Given the description of an element on the screen output the (x, y) to click on. 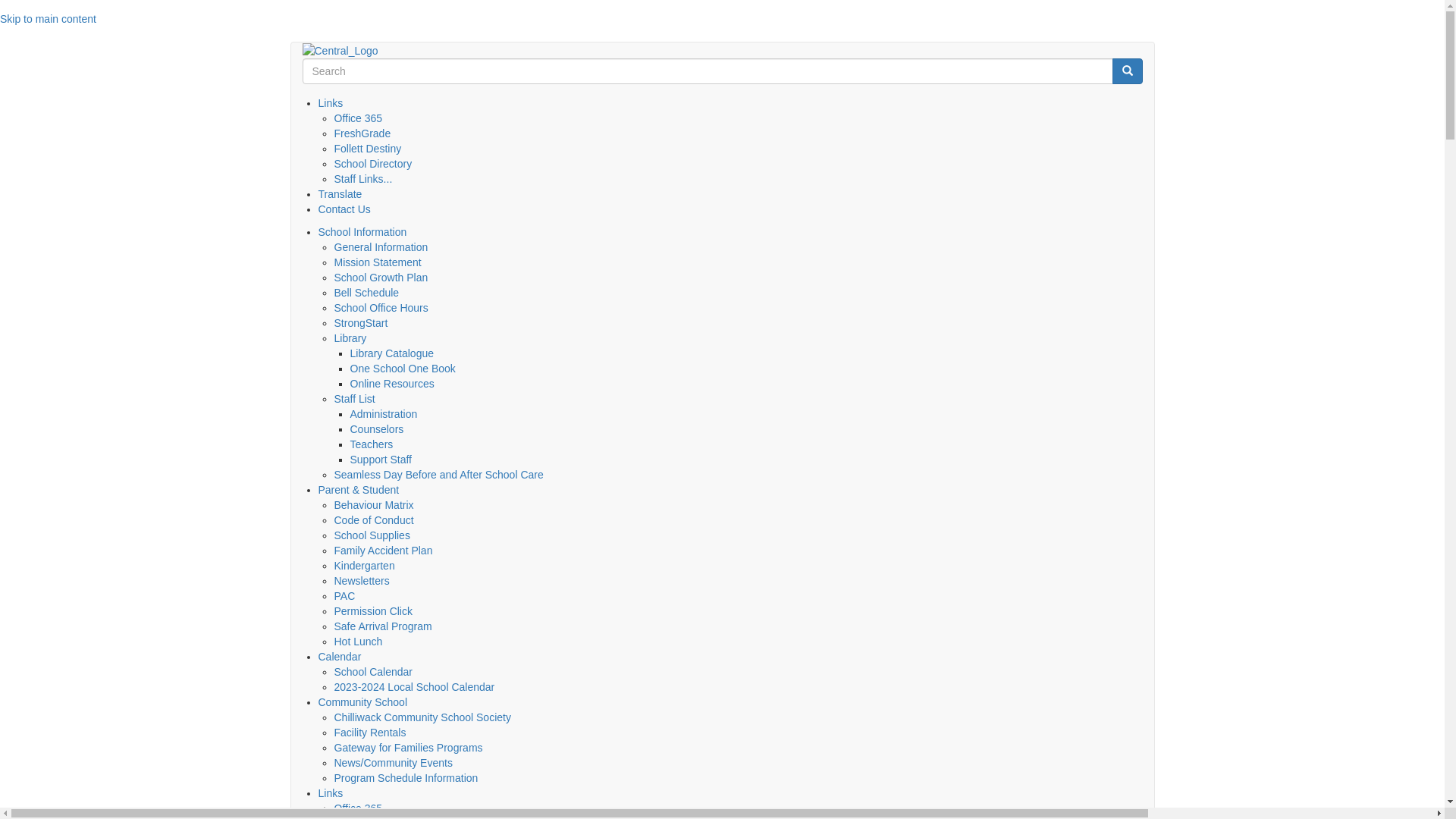
Online Resources Element type: text (392, 383)
School Supplies Element type: text (371, 535)
Bell Schedule Element type: text (365, 292)
Translate Element type: text (340, 194)
Office 365 Element type: text (357, 808)
School Directory Element type: text (372, 163)
Code of Conduct Element type: text (373, 520)
Enter the terms you wish to search for. Element type: hover (706, 71)
News/Community Events Element type: text (392, 762)
General Information Element type: text (380, 247)
Contact Us Element type: text (344, 209)
PAC Element type: text (343, 595)
Mission Statement Element type: text (376, 262)
FreshGrade Element type: text (361, 133)
Seamless Day Before and After School Care Element type: text (437, 474)
Search Element type: text (1126, 71)
Hot Lunch Element type: text (357, 641)
Library Catalogue Element type: text (392, 353)
Staff Links... Element type: text (362, 178)
StrongStart Element type: text (360, 322)
Administration Element type: text (383, 413)
School Calendar Element type: text (372, 671)
Follett Destiny Element type: text (367, 148)
Community School Element type: text (362, 702)
Family Accident Plan Element type: text (382, 550)
Kindergarten Element type: text (363, 565)
School Office Hours Element type: text (380, 307)
Skip to main content Element type: text (48, 18)
Calendar Element type: text (339, 656)
Staff List Element type: text (353, 398)
Chilliwack Community School Society Element type: text (421, 717)
Behaviour Matrix Element type: text (373, 504)
Library Element type: text (349, 338)
Links Element type: text (330, 793)
Support Staff Element type: text (380, 459)
Counselors Element type: text (377, 429)
Parent & Student Element type: text (358, 489)
Facility Rentals Element type: text (369, 732)
2023-2024 Local School Calendar Element type: text (413, 686)
Office 365 Element type: text (357, 118)
One School One Book Element type: text (402, 368)
Newsletters Element type: text (361, 580)
Safe Arrival Program Element type: text (382, 626)
Permission Click Element type: text (372, 611)
School Information Element type: text (362, 231)
Teachers Element type: text (371, 444)
Gateway for Families Programs Element type: text (407, 747)
Program Schedule Information Element type: text (405, 777)
School Growth Plan Element type: text (380, 277)
Links Element type: text (330, 103)
